Given the description of an element on the screen output the (x, y) to click on. 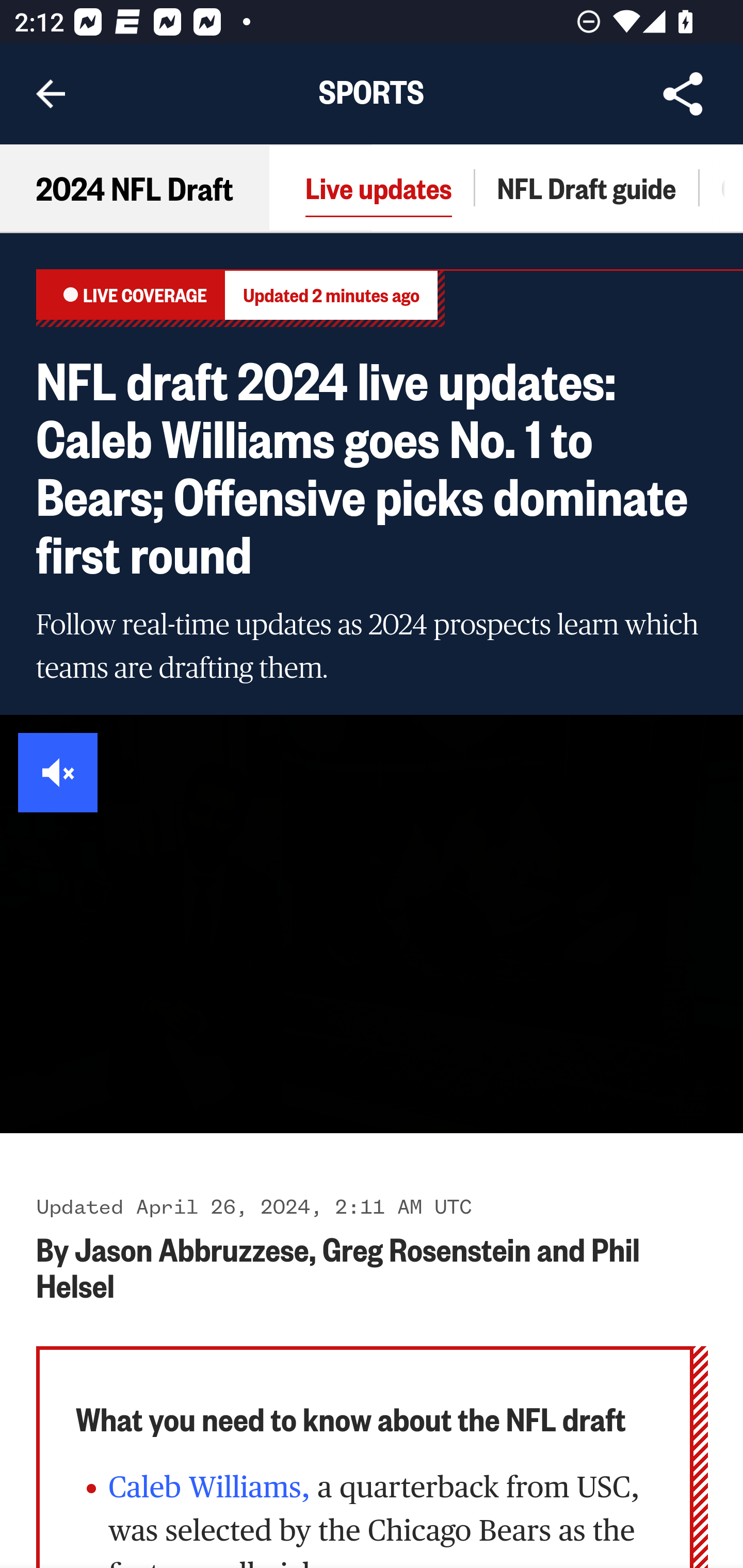
Navigate up (50, 93)
Share Article, button (683, 94)
